Given the description of an element on the screen output the (x, y) to click on. 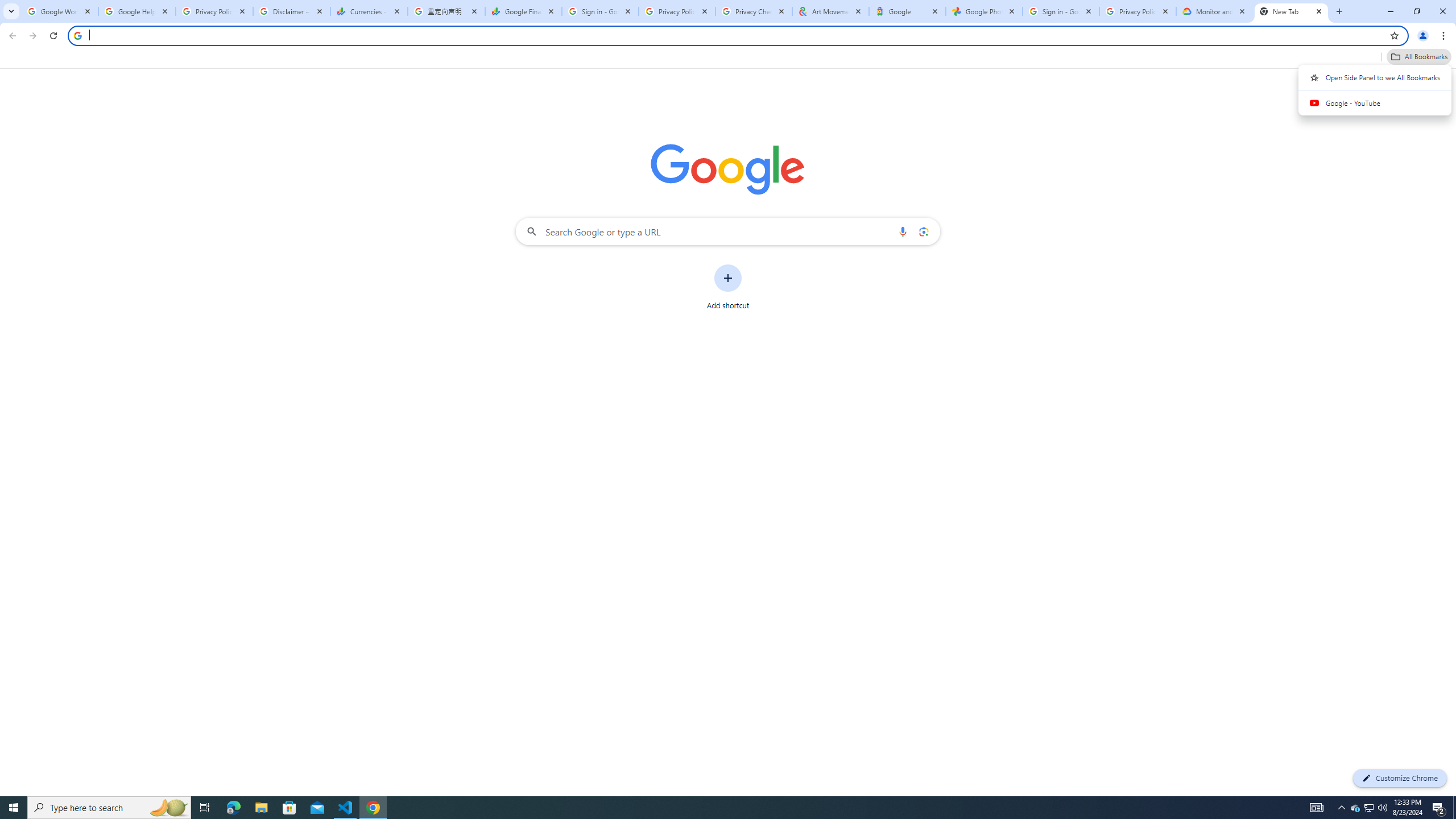
Add shortcut (727, 287)
Open Side Panel to see All Bookmarks (1374, 77)
Sign in - Google Accounts (599, 11)
Currencies - Google Finance (368, 11)
Bookmarks (728, 58)
